Given the description of an element on the screen output the (x, y) to click on. 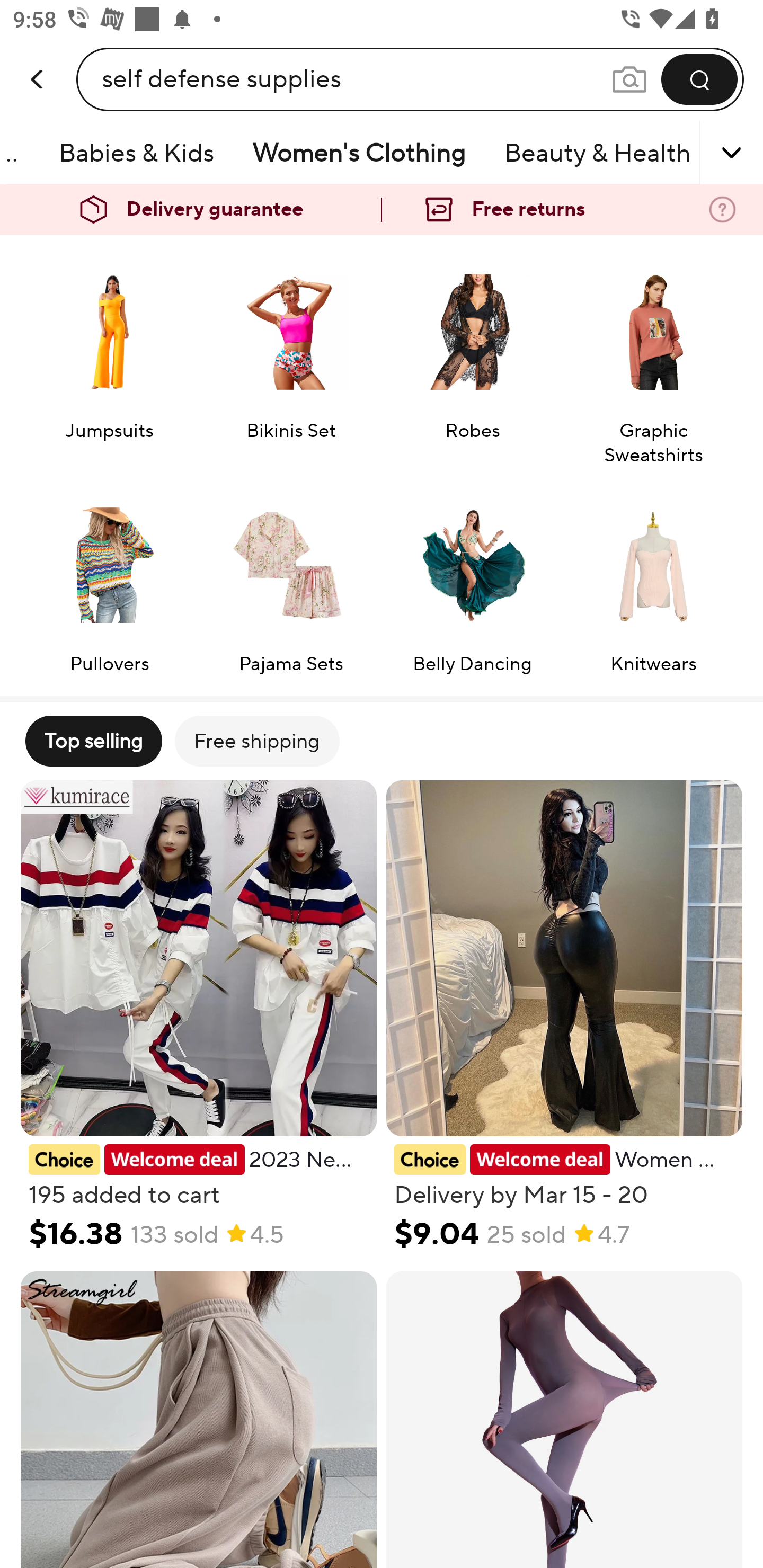
back  (38, 59)
self defense supplies Search query (355, 79)
Babies & Kids (136, 152)
Beauty & Health (597, 152)
 (705, 152)
Delivery guarantee Free returns (381, 210)
Jumpsuits (109, 357)
Bikinis Set (290, 357)
Robes (471, 357)
Graphic Sweatshirts (653, 357)
Pullovers (109, 579)
Pajama Sets (290, 579)
Belly Dancing (471, 579)
Knitwears (653, 579)
Top selling (93, 740)
Free shipping (256, 740)
